Given the description of an element on the screen output the (x, y) to click on. 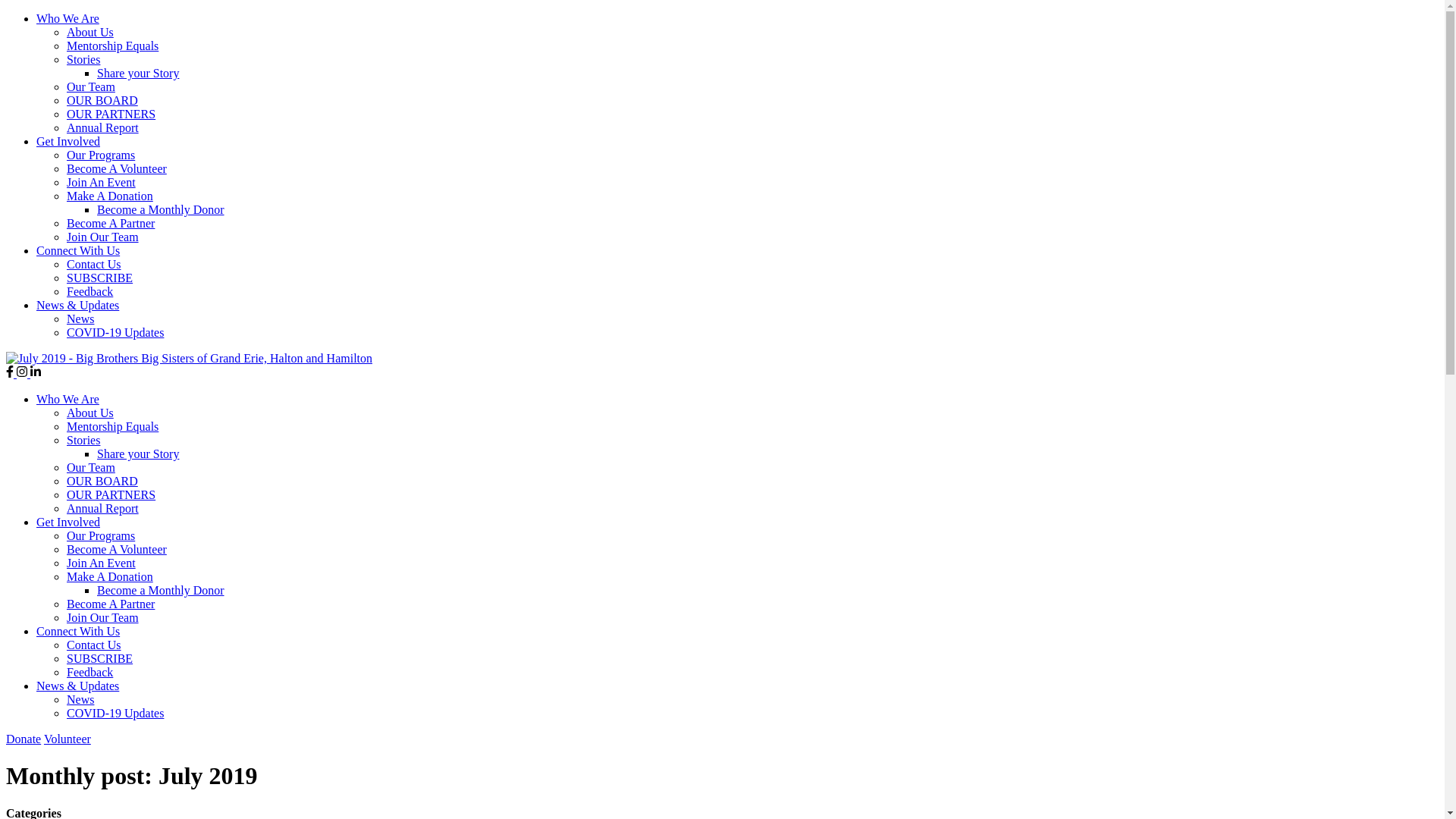
Mentorship Equals Element type: text (112, 426)
Feedback Element type: text (89, 671)
Our Programs Element type: text (100, 535)
OUR BOARD Element type: text (102, 100)
Become A Partner Element type: text (110, 222)
Who We Are Element type: text (67, 18)
Make A Donation Element type: text (109, 576)
Become A Volunteer Element type: text (116, 548)
SUBSCRIBE Element type: text (99, 277)
News Element type: text (80, 699)
Our Programs Element type: text (100, 154)
Volunteer Element type: text (67, 738)
Stories Element type: text (83, 59)
News & Updates Element type: text (77, 685)
Who We Are Element type: text (67, 398)
Contact Us Element type: text (93, 644)
OUR PARTNERS Element type: text (110, 494)
SUBSCRIBE Element type: text (99, 658)
Feedback Element type: text (89, 291)
Contact Us Element type: text (93, 263)
COVID-19 Updates Element type: text (114, 712)
Join An Event Element type: text (100, 562)
Annual Report Element type: text (102, 508)
Join An Event Element type: text (100, 181)
Join Our Team Element type: text (102, 617)
Get Involved Element type: text (68, 140)
OUR PARTNERS Element type: text (110, 113)
About Us Element type: text (89, 31)
Stories Element type: text (83, 439)
Share your Story Element type: text (137, 453)
Our Team Element type: text (90, 86)
Annual Report Element type: text (102, 127)
Become A Volunteer Element type: text (116, 168)
Get Involved Element type: text (68, 521)
OUR BOARD Element type: text (102, 480)
Become a Monthly Donor Element type: text (160, 209)
News Element type: text (80, 318)
Join Our Team Element type: text (102, 236)
Become A Partner Element type: text (110, 603)
Connect With Us Element type: text (77, 250)
Make A Donation Element type: text (109, 195)
Donate Element type: text (23, 738)
Share your Story Element type: text (137, 72)
Our Team Element type: text (90, 467)
About Us Element type: text (89, 412)
COVID-19 Updates Element type: text (114, 332)
News & Updates Element type: text (77, 304)
Mentorship Equals Element type: text (112, 45)
Become a Monthly Donor Element type: text (160, 589)
Connect With Us Element type: text (77, 630)
